Given the description of an element on the screen output the (x, y) to click on. 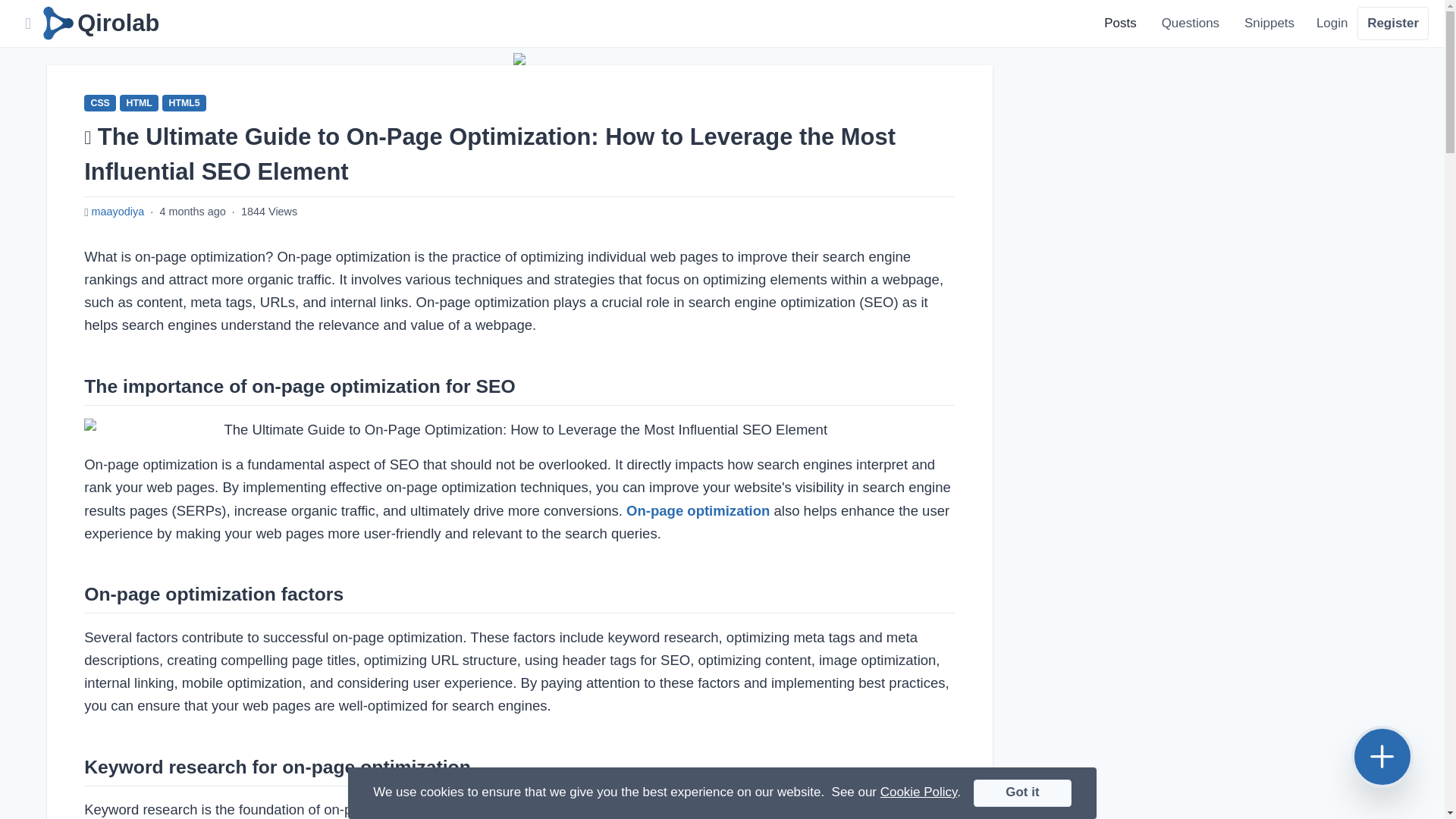
Posts (1120, 23)
HTML (138, 103)
HTML5 (183, 103)
maayodiya (117, 211)
Questions (1189, 23)
Qirolab (98, 22)
Register (1392, 23)
Snippets (1269, 23)
Login (1331, 23)
On-page optimization (698, 509)
CSS (100, 103)
